Given the description of an element on the screen output the (x, y) to click on. 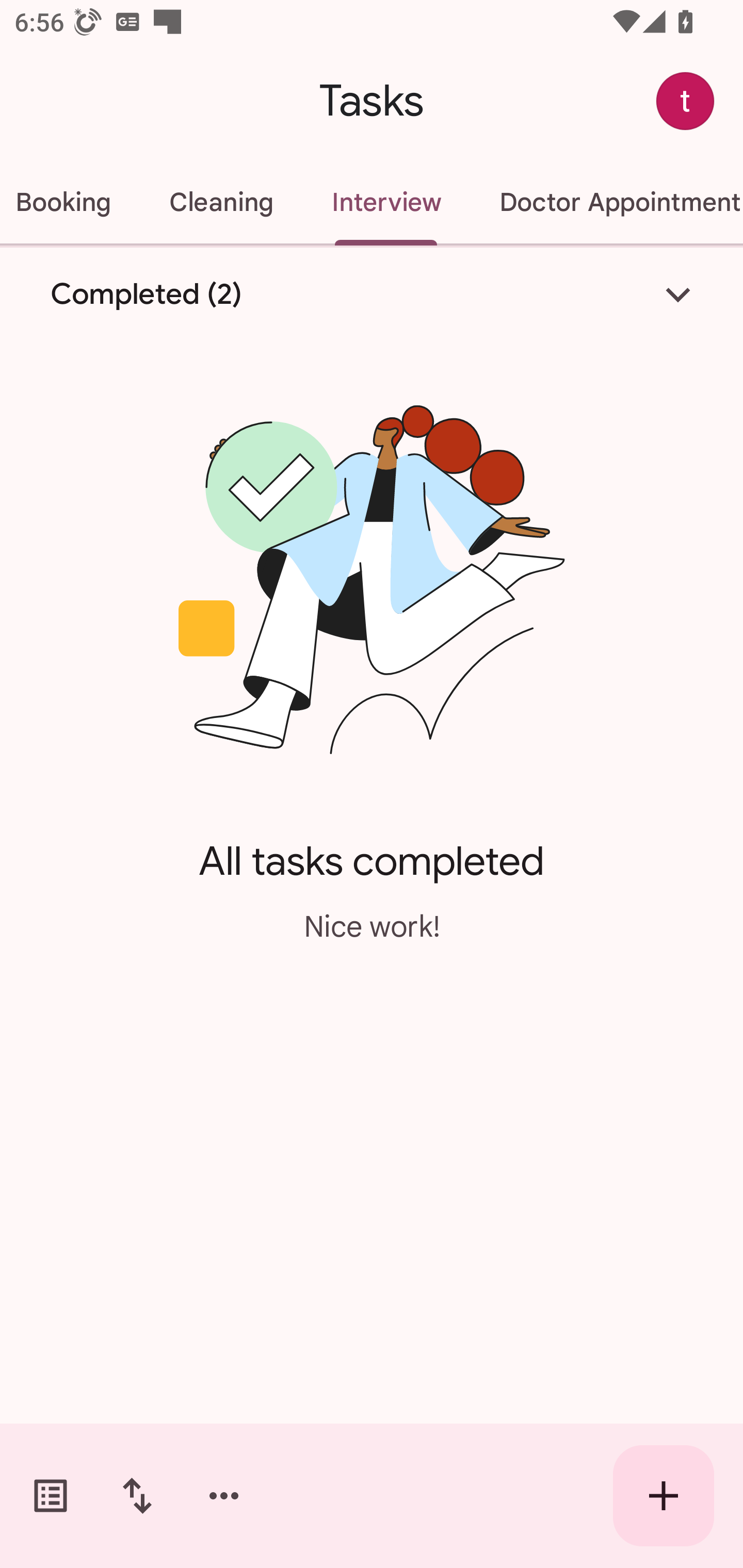
Hotel Booking (69, 202)
Cleaning (220, 202)
Doctor Appointment (606, 202)
Completed (2) (371, 294)
Switch task lists (50, 1495)
Create new task (663, 1495)
Change sort order (136, 1495)
More options (223, 1495)
